Given the description of an element on the screen output the (x, y) to click on. 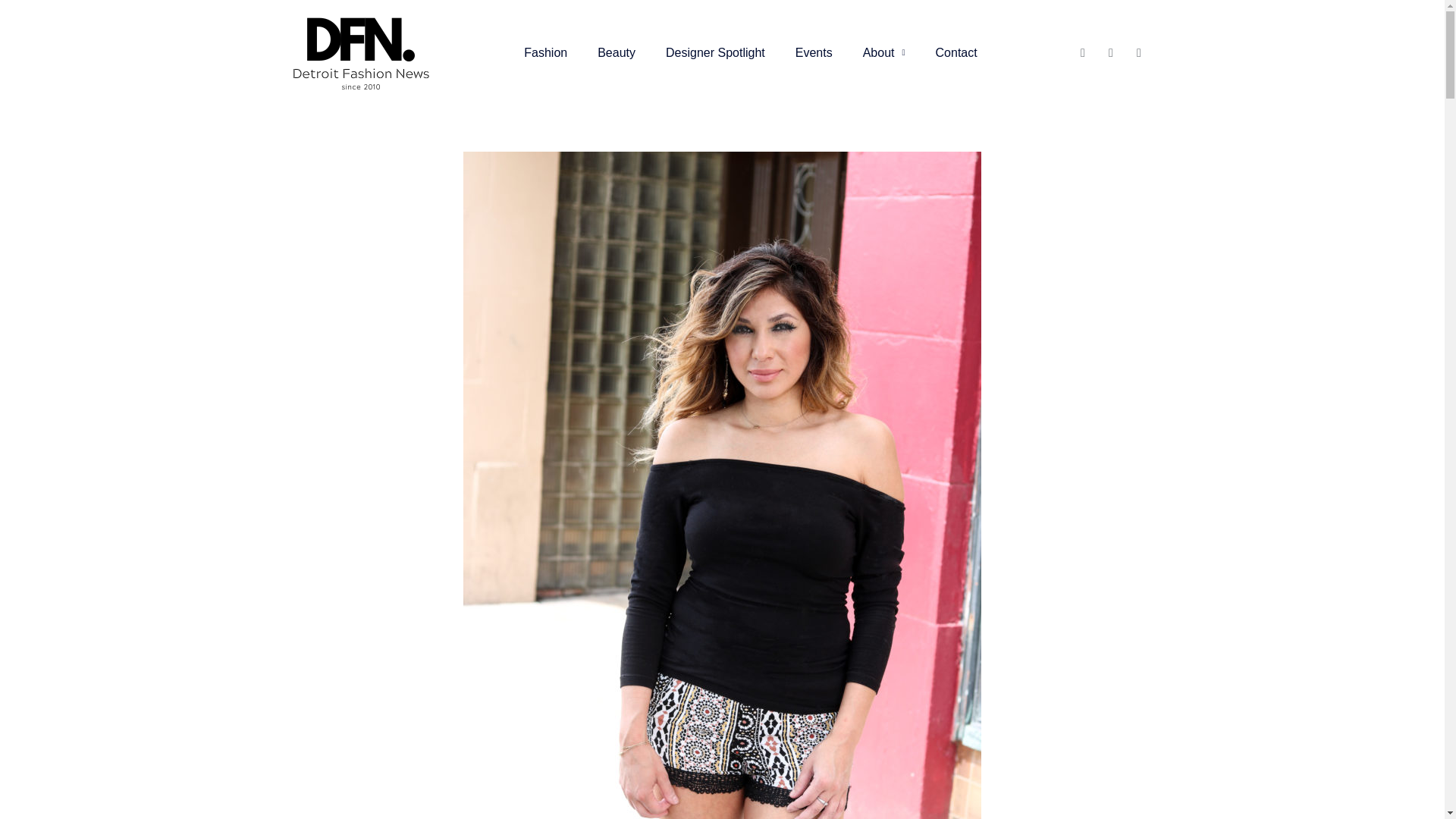
Fashion (545, 53)
Designer Spotlight (715, 53)
Events (813, 53)
Beauty (616, 53)
Instagram (1138, 52)
Facebook (1082, 52)
Twitter (1110, 52)
About (883, 53)
Contact (956, 53)
